Given the description of an element on the screen output the (x, y) to click on. 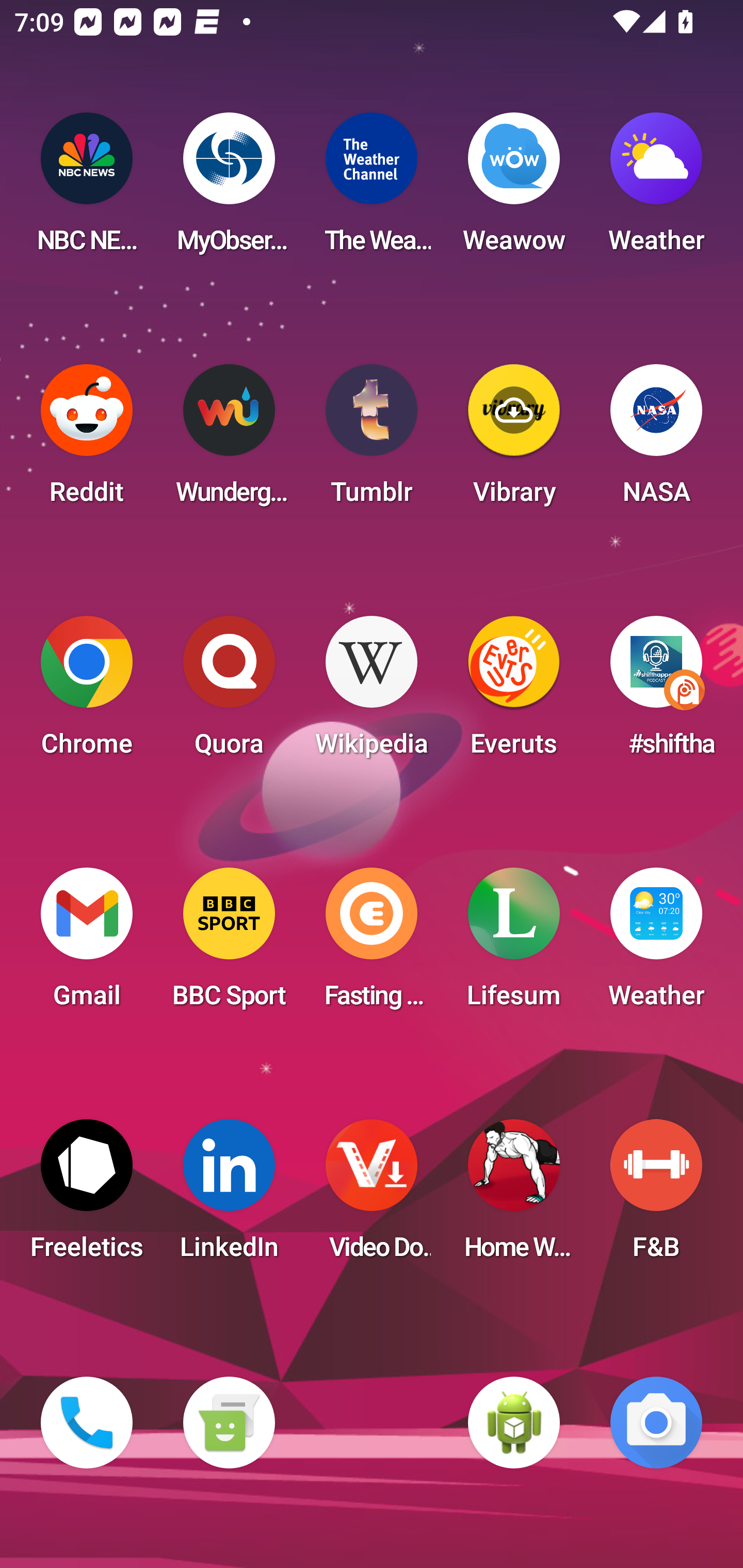
NBC NEWS (86, 188)
MyObservatory (228, 188)
The Weather Channel (371, 188)
Weawow (513, 188)
Weather (656, 188)
Reddit (86, 440)
Wunderground (228, 440)
Tumblr (371, 440)
Vibrary (513, 440)
NASA (656, 440)
Chrome (86, 692)
Quora (228, 692)
Wikipedia (371, 692)
Everuts (513, 692)
#shifthappens in the Digital Workplace Podcast (656, 692)
Gmail (86, 943)
BBC Sport (228, 943)
Fasting Coach (371, 943)
Lifesum (513, 943)
Weather (656, 943)
Freeletics (86, 1195)
LinkedIn (228, 1195)
Video Downloader & Ace Player (371, 1195)
Home Workout (513, 1195)
F&B (656, 1195)
Phone (86, 1422)
Messaging (228, 1422)
WebView Browser Tester (513, 1422)
Camera (656, 1422)
